Given the description of an element on the screen output the (x, y) to click on. 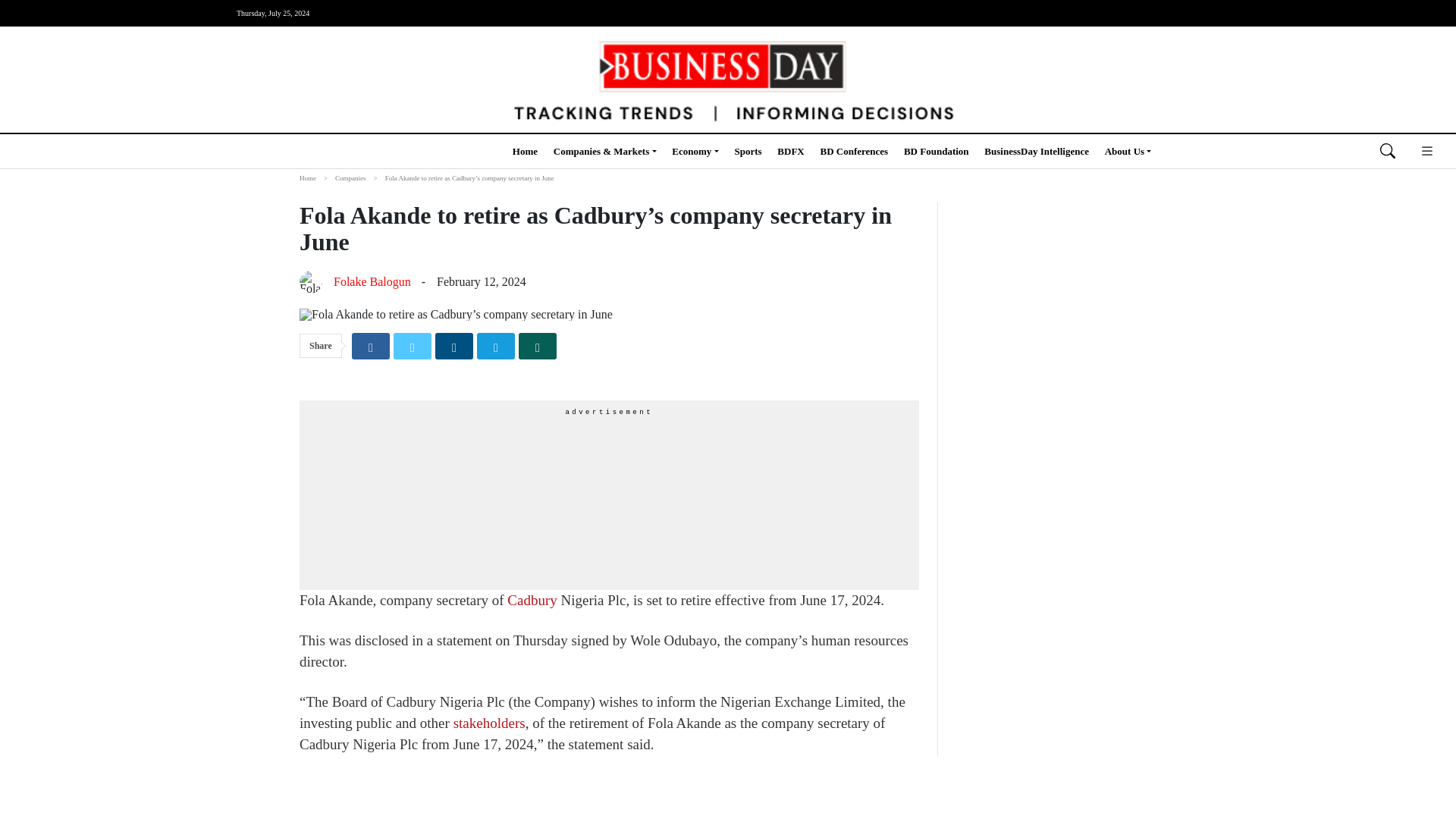
Economy (694, 150)
About Us (1128, 150)
BD Conferences (854, 150)
BusinessDay Intelligence (1036, 150)
BD Foundation (936, 150)
About Us (1128, 150)
BD Conferences (854, 150)
Economy (694, 150)
BD Foundation (936, 150)
BusinessDay Intelligence (1036, 150)
